Given the description of an element on the screen output the (x, y) to click on. 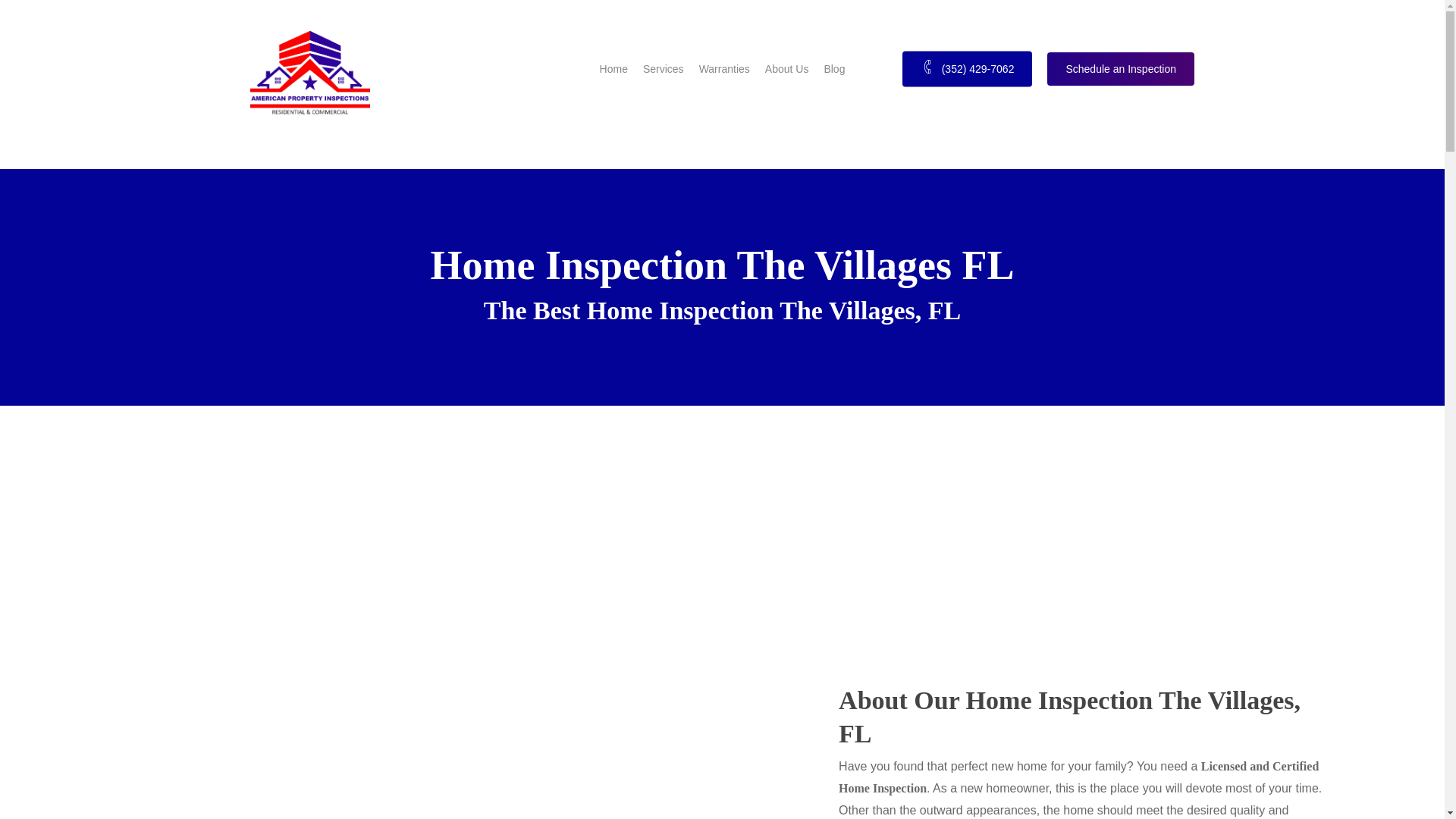
Schedule an Inspection (1119, 68)
Services (663, 68)
Blog (834, 68)
About Us (787, 68)
Home (613, 68)
Home Inspection Orlando, FL (613, 68)
Warranties (723, 68)
